Given the description of an element on the screen output the (x, y) to click on. 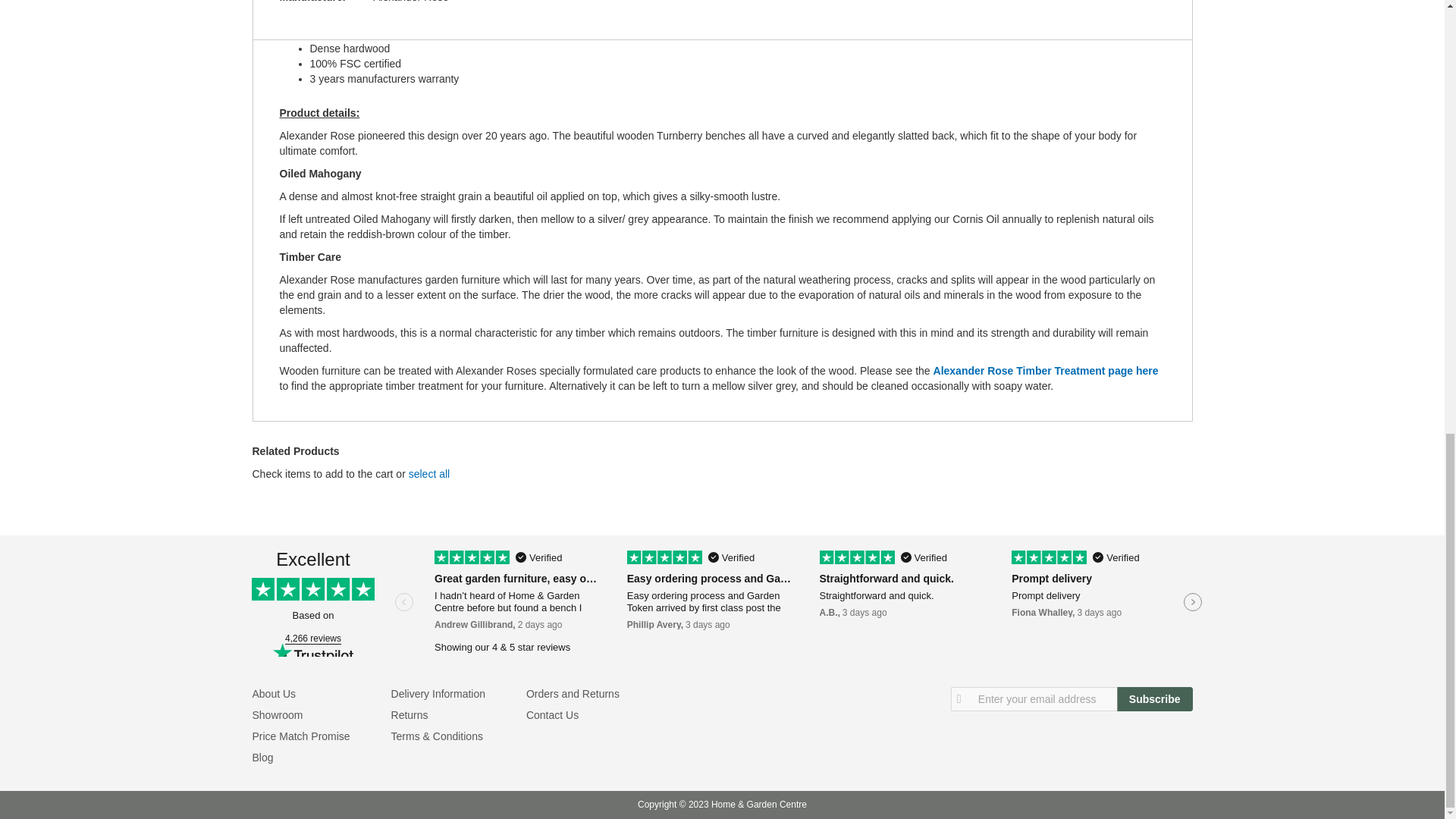
Subscribe (1154, 699)
Customer reviews powered by Trustpilot (721, 603)
